Given the description of an element on the screen output the (x, y) to click on. 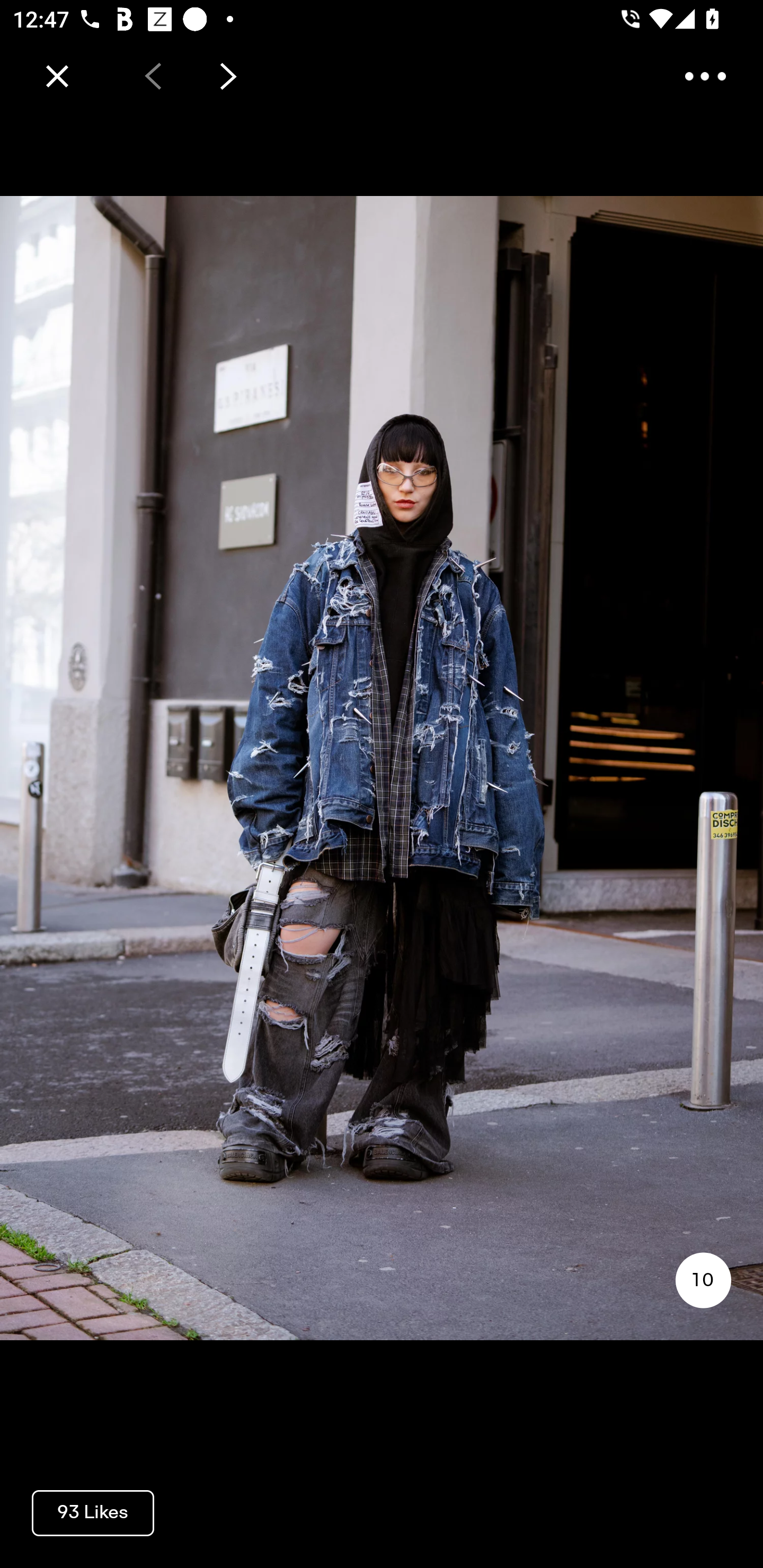
10 (702, 1279)
93 Likes (93, 1512)
